Given the description of an element on the screen output the (x, y) to click on. 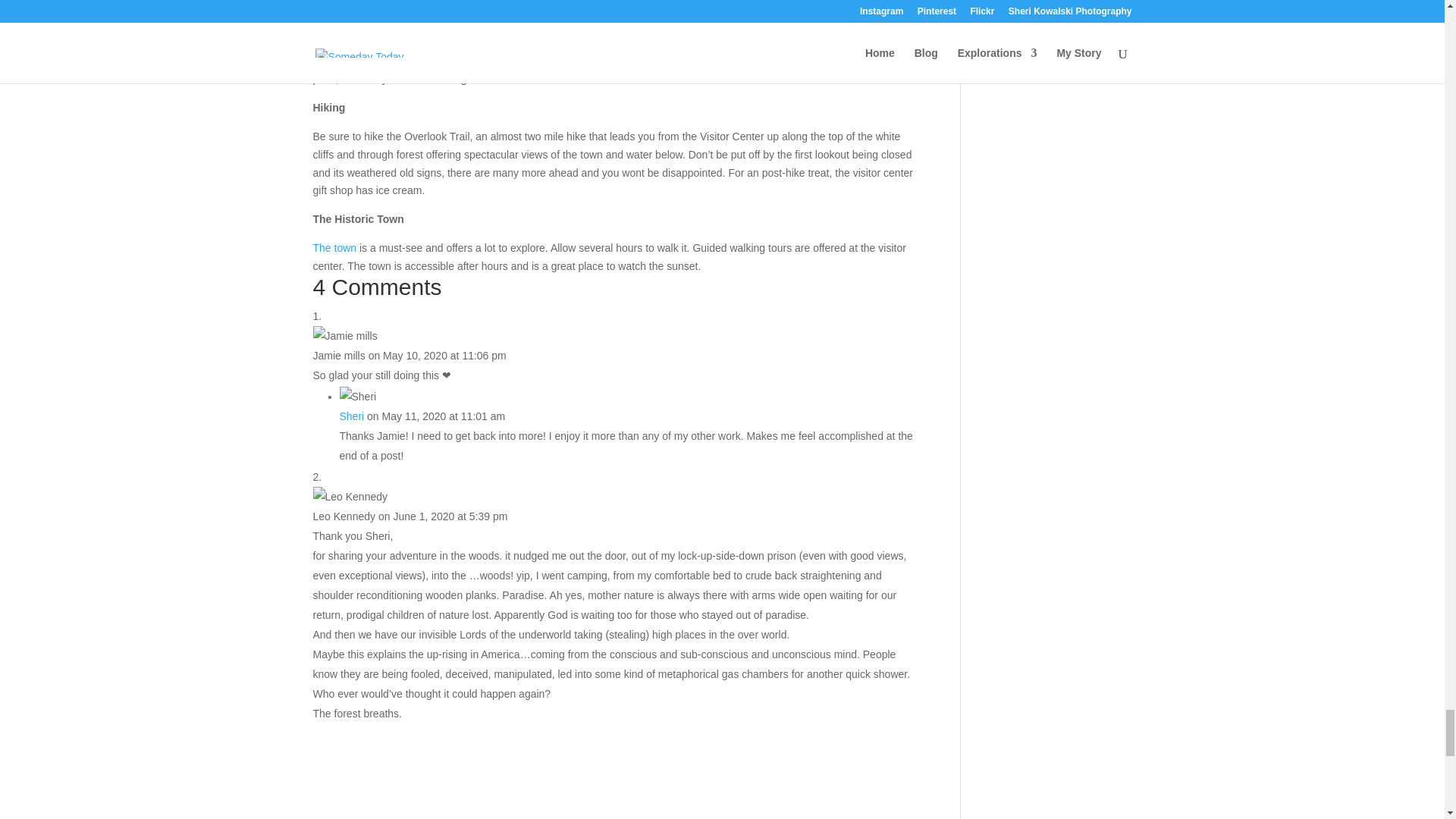
The campsites (348, 24)
Sheri (352, 416)
The town (334, 247)
